Given the description of an element on the screen output the (x, y) to click on. 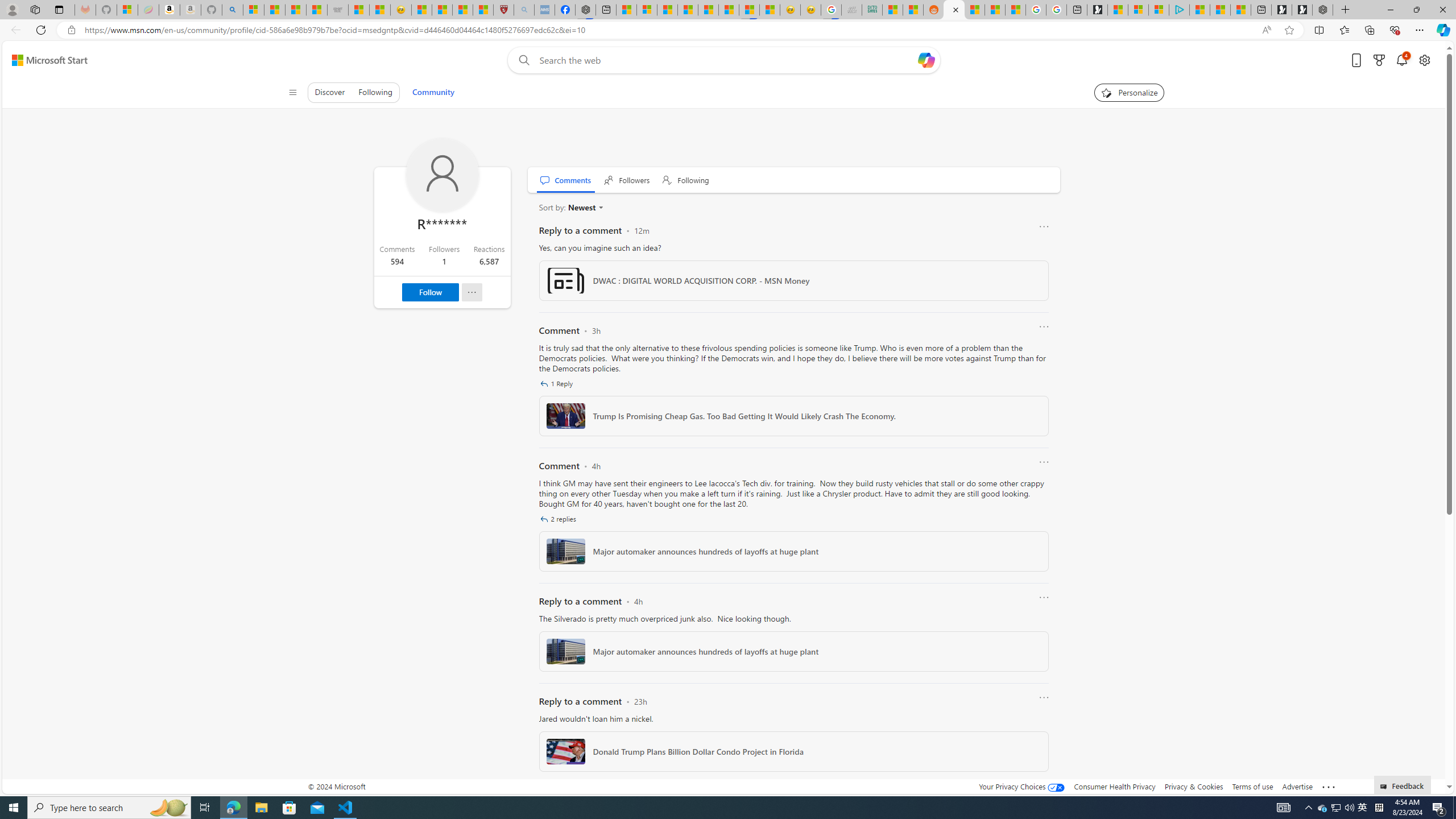
Class: feedback_link_icon-DS-EntryPoint1-1 (1384, 786)
Report profile (471, 292)
